Given the description of an element on the screen output the (x, y) to click on. 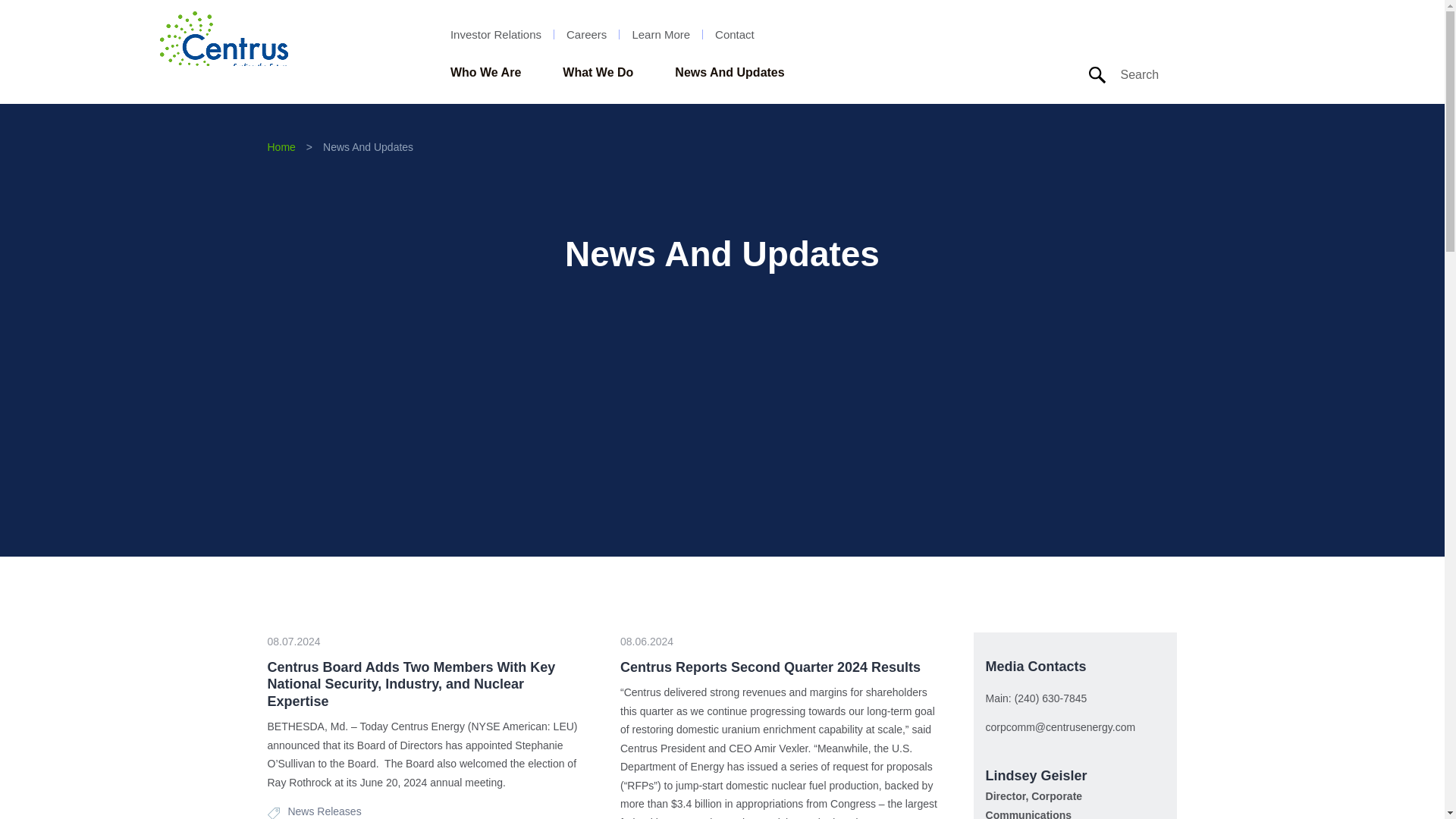
Investor Relations (495, 34)
Who We Are (485, 72)
Contact (734, 34)
What We Do (597, 72)
Learn More (660, 34)
Careers (586, 34)
News And Updates (729, 72)
